Given the description of an element on the screen output the (x, y) to click on. 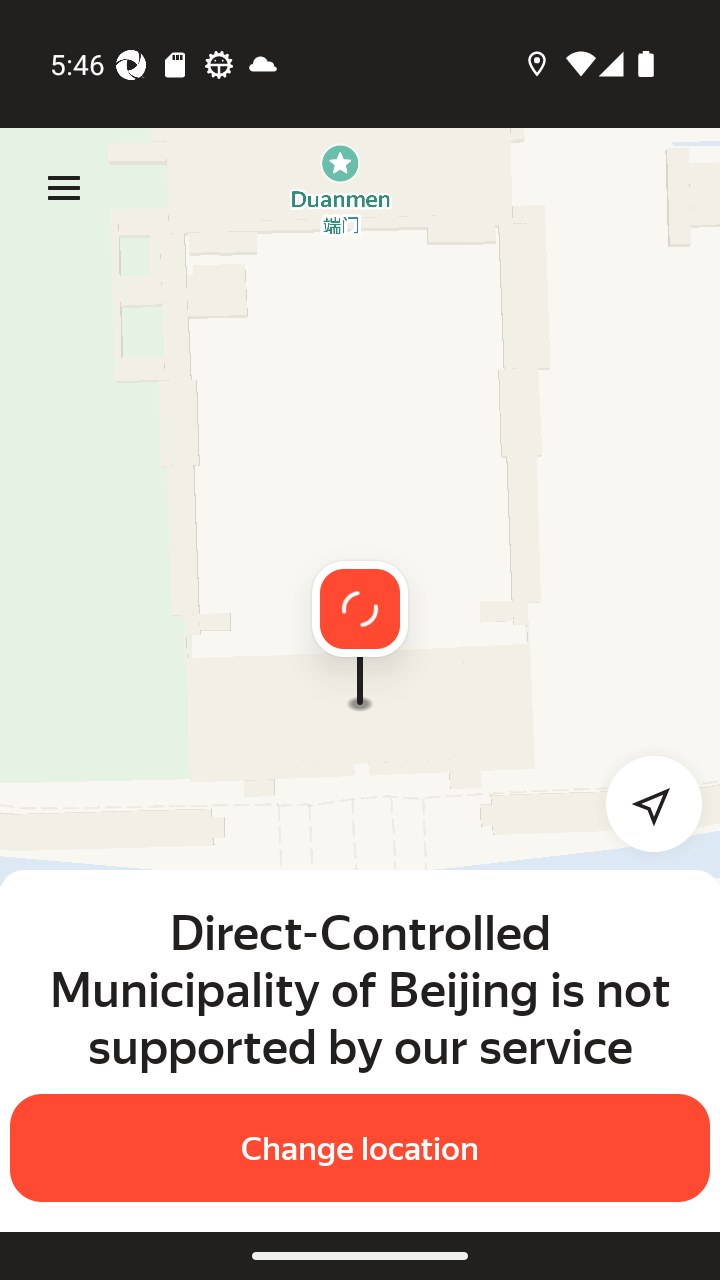
Menu Menu Menu (64, 188)
Detect my location (641, 803)
Change location (359, 1147)
